Given the description of an element on the screen output the (x, y) to click on. 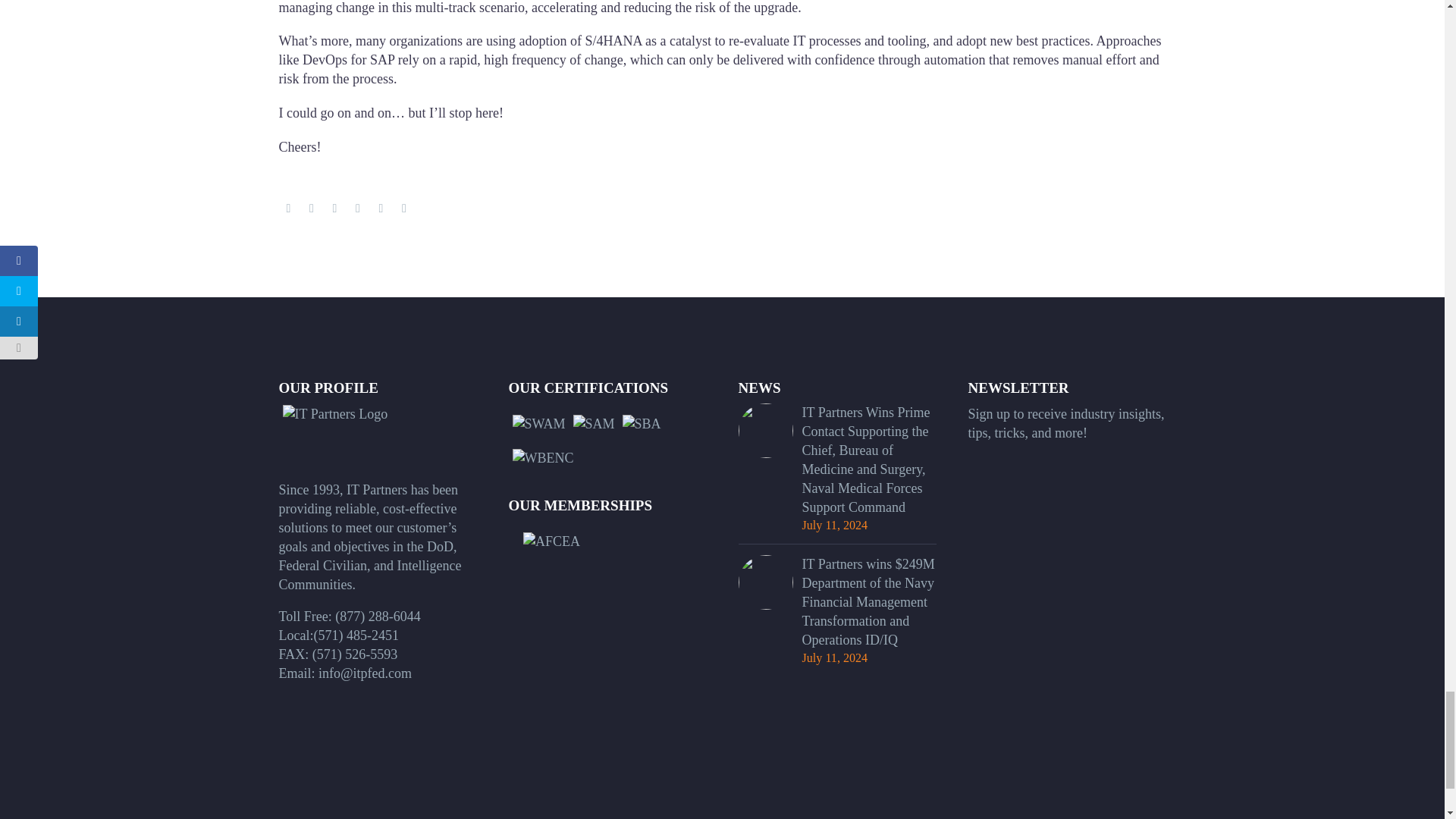
Tumblr (358, 208)
Twitter (311, 208)
Facebook (288, 208)
Pinterest (334, 208)
Reddit (403, 208)
LinkedIn (380, 208)
